Given the description of an element on the screen output the (x, y) to click on. 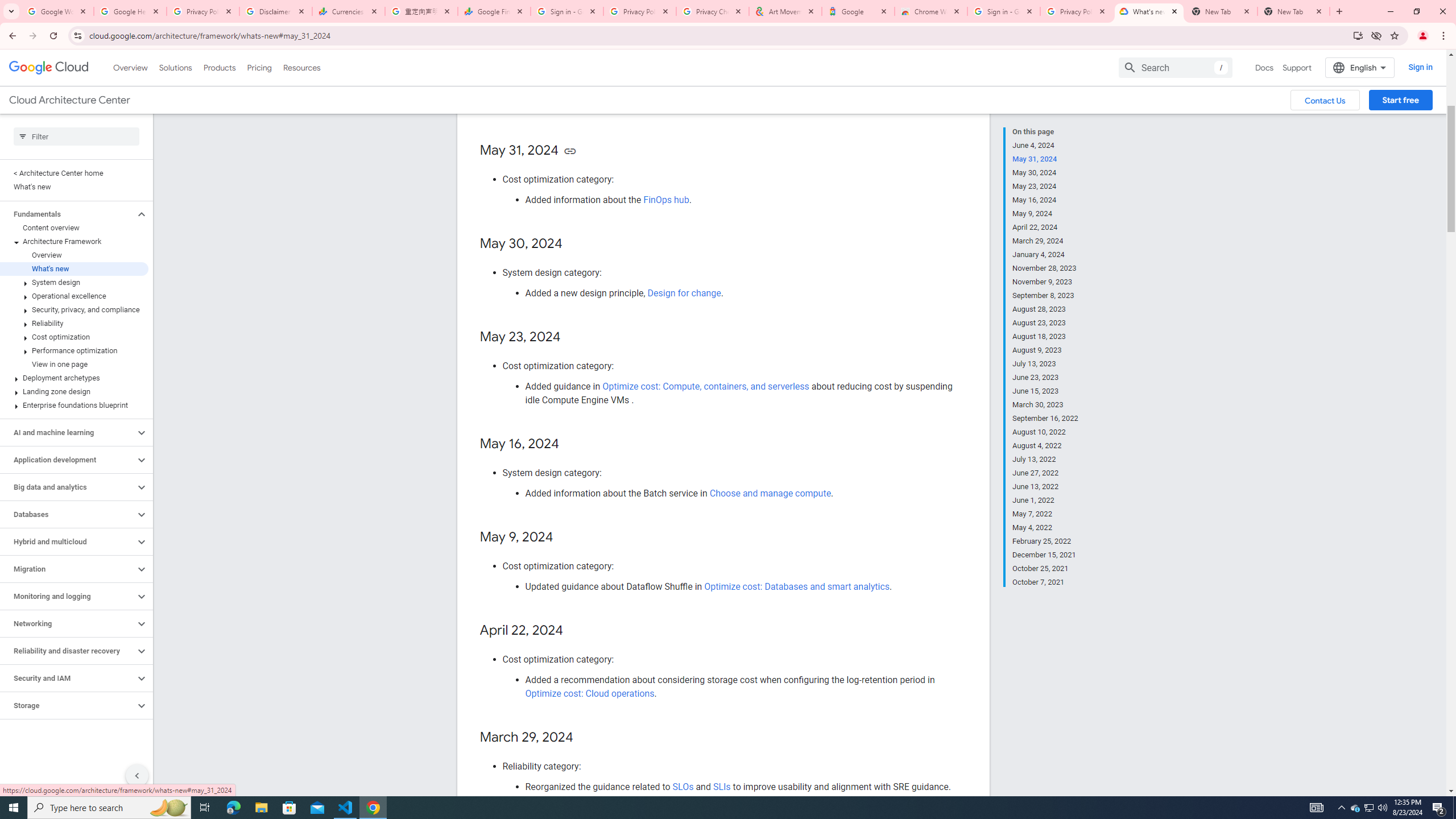
Google (857, 11)
Networking (67, 623)
November 9, 2023 (1044, 282)
October 7, 2021 (1044, 581)
June 27, 2022 (1044, 472)
May 30, 2024 (1044, 172)
September 8, 2023 (1044, 295)
Copy link to this section: April 22, 2024 (574, 631)
Start free (1400, 100)
June 13, 2022 (1044, 486)
